Given the description of an element on the screen output the (x, y) to click on. 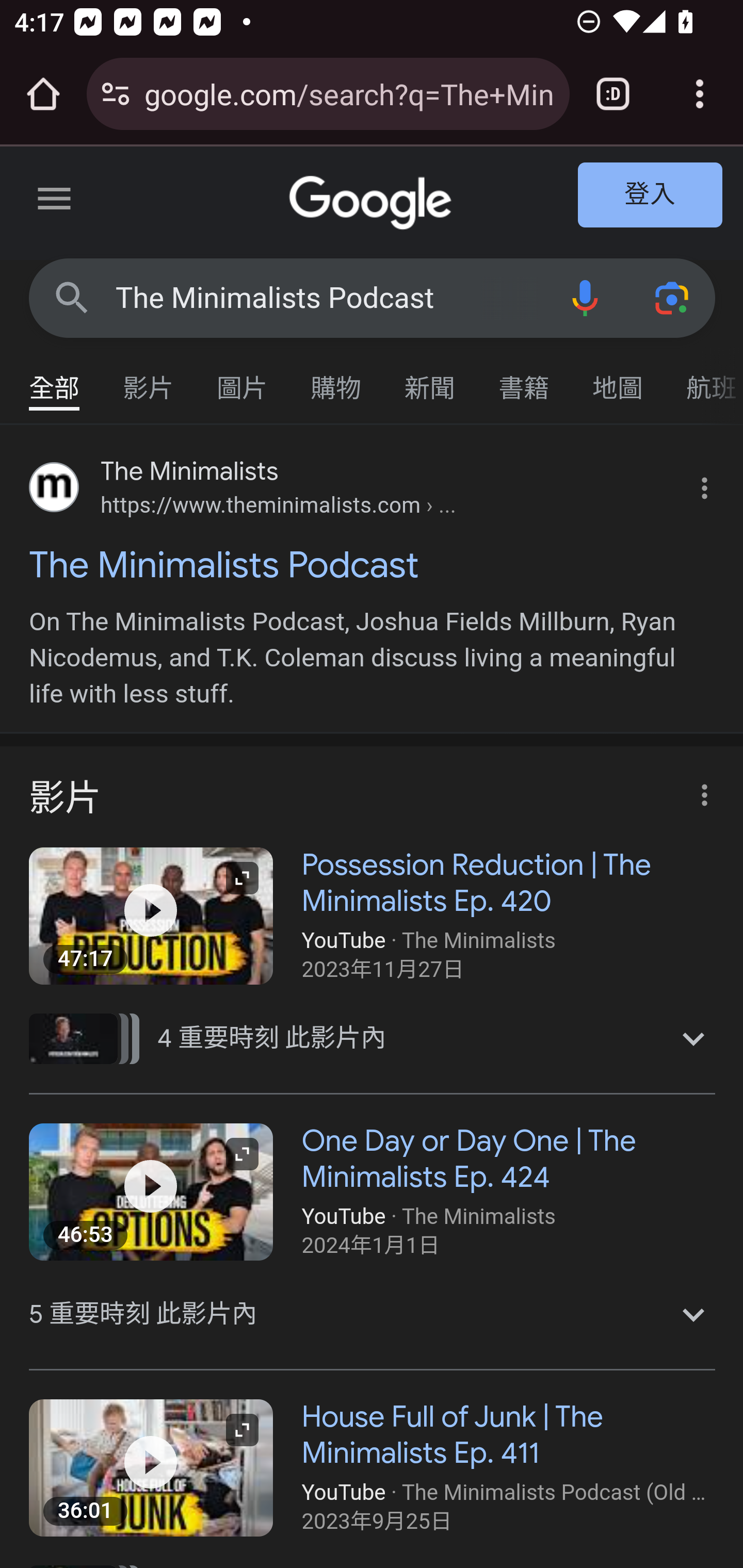
Open the home page (43, 93)
Connection is secure (115, 93)
Switch or close tabs (612, 93)
Customize and control Google Chrome (699, 93)
